Given the description of an element on the screen output the (x, y) to click on. 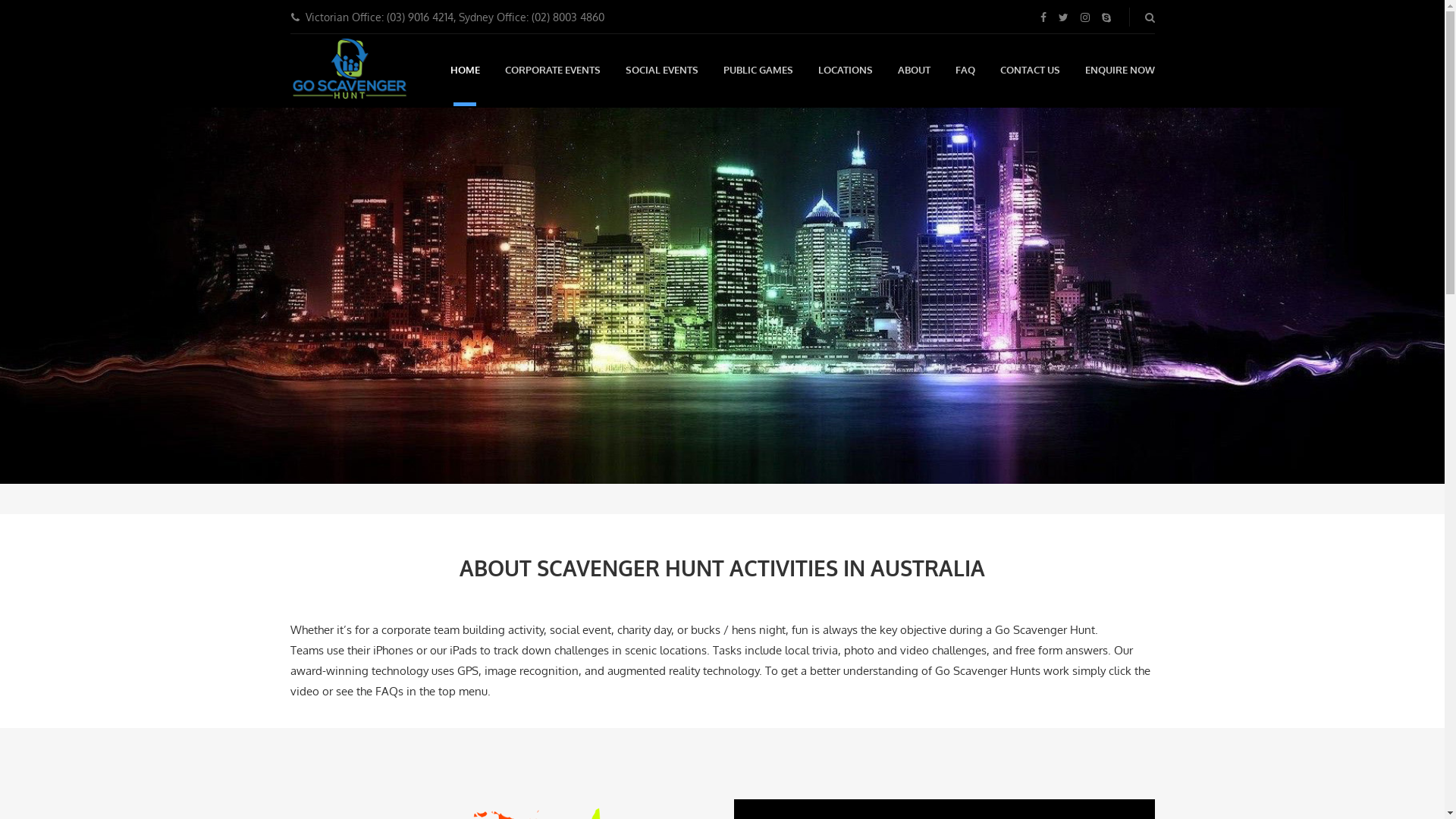
ABOUT Element type: text (913, 69)
ADVENTURE ACTIVITIES Element type: hover (348, 71)
ENQUIRE NOW Element type: text (1119, 69)
CORPORATE EVENTS Element type: text (552, 69)
PUBLIC GAMES Element type: text (758, 69)
CONTACT US Element type: text (1029, 69)
FAQ Element type: text (965, 69)
HOME Element type: text (465, 69)
LOCATIONS Element type: text (844, 69)
SOCIAL EVENTS Element type: text (660, 69)
